Given the description of an element on the screen output the (x, y) to click on. 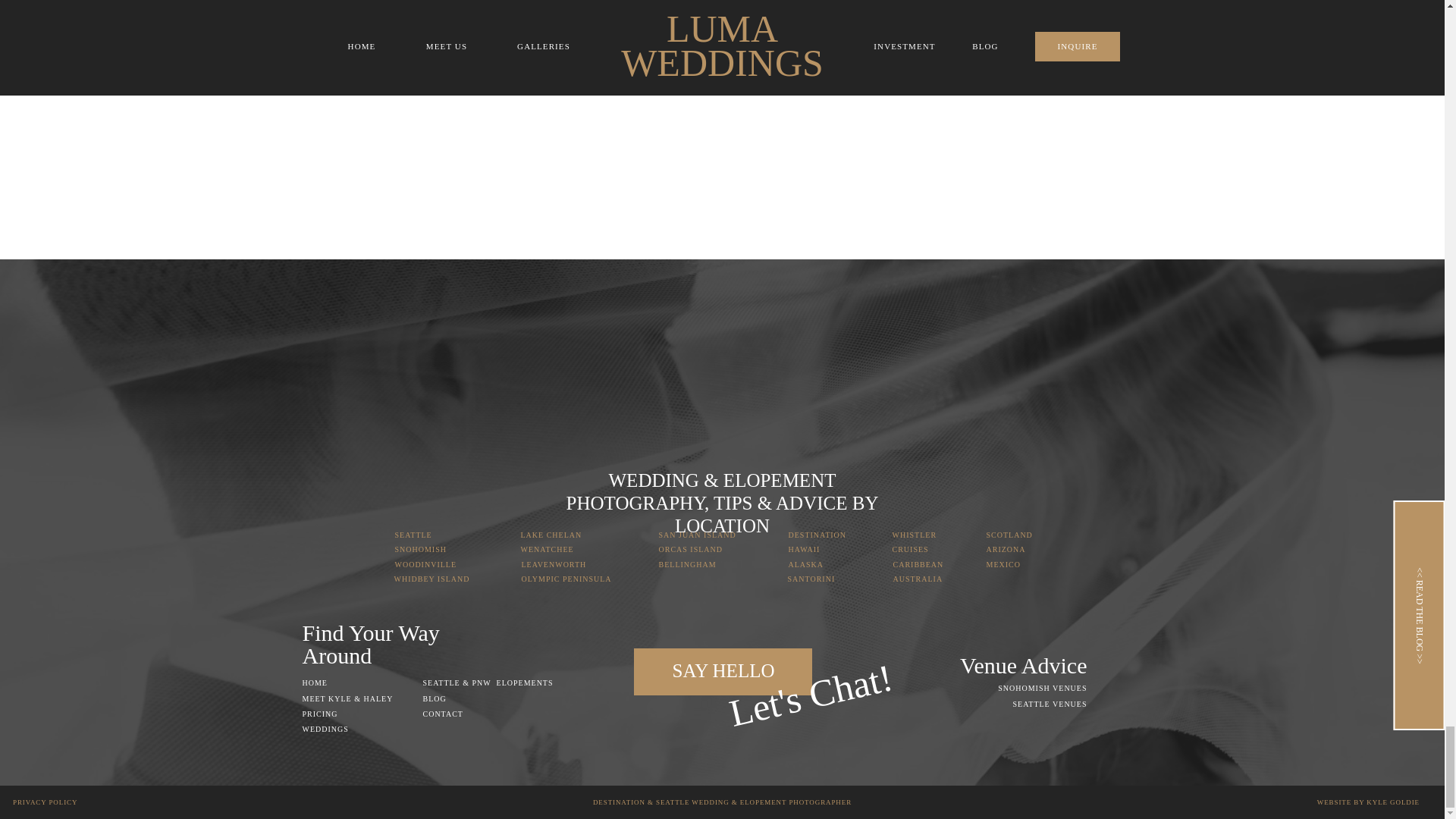
JARDIN DEL SOL WEDDING VENUE IN SNOHOMISH (477, 39)
SNOHOMISH VENUES (1032, 689)
SEATTLE VENUES (1038, 706)
SANTORINI (817, 579)
DESTINATION (826, 533)
LORD HILL FARMS WEDDING VENUE IN SNOHOMISH, WA (931, 38)
